Given the description of an element on the screen output the (x, y) to click on. 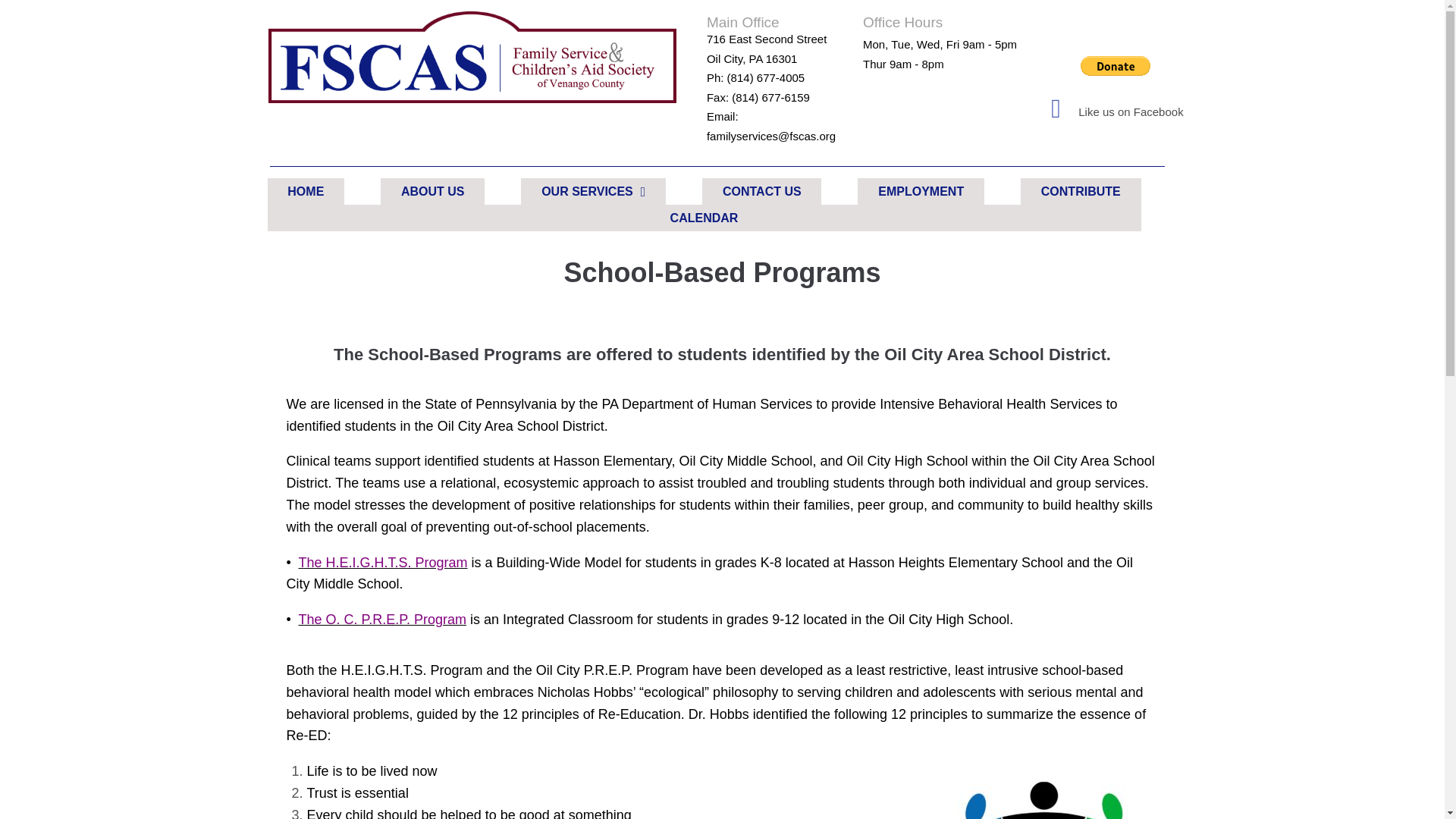
ABOUT US (432, 191)
CALENDAR (703, 217)
EMPLOYMENT (920, 191)
The O. C. P.R.E.P. Program (381, 619)
OUR SERVICES (593, 191)
CONTRIBUTE (1080, 191)
The H.E.I.G.H.T.S. Program (382, 562)
HOME (304, 191)
CONTACT US (761, 191)
PayPal - The safer, easier way to pay online! (1115, 66)
